Given the description of an element on the screen output the (x, y) to click on. 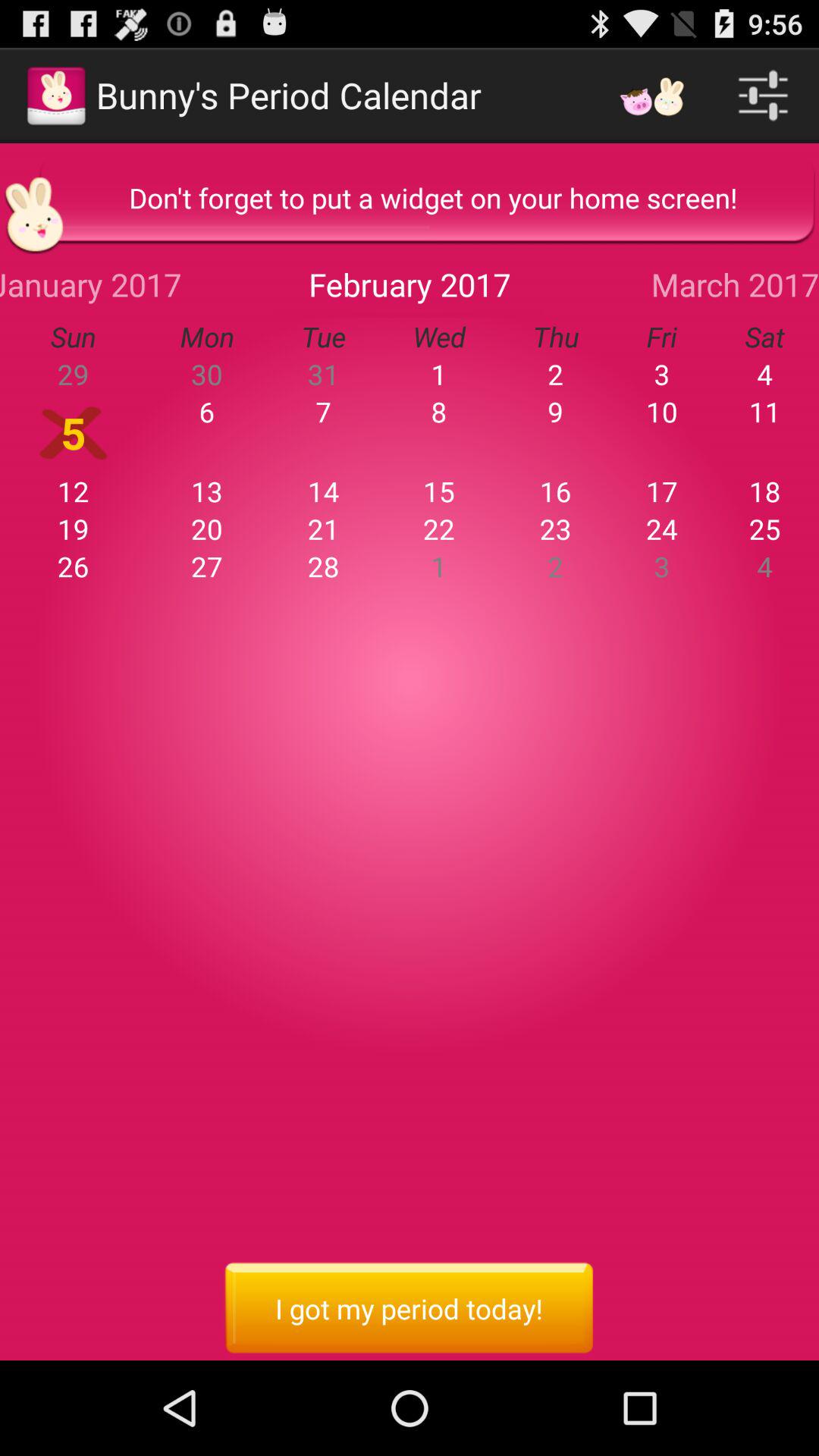
turn on thu app (555, 336)
